Given the description of an element on the screen output the (x, y) to click on. 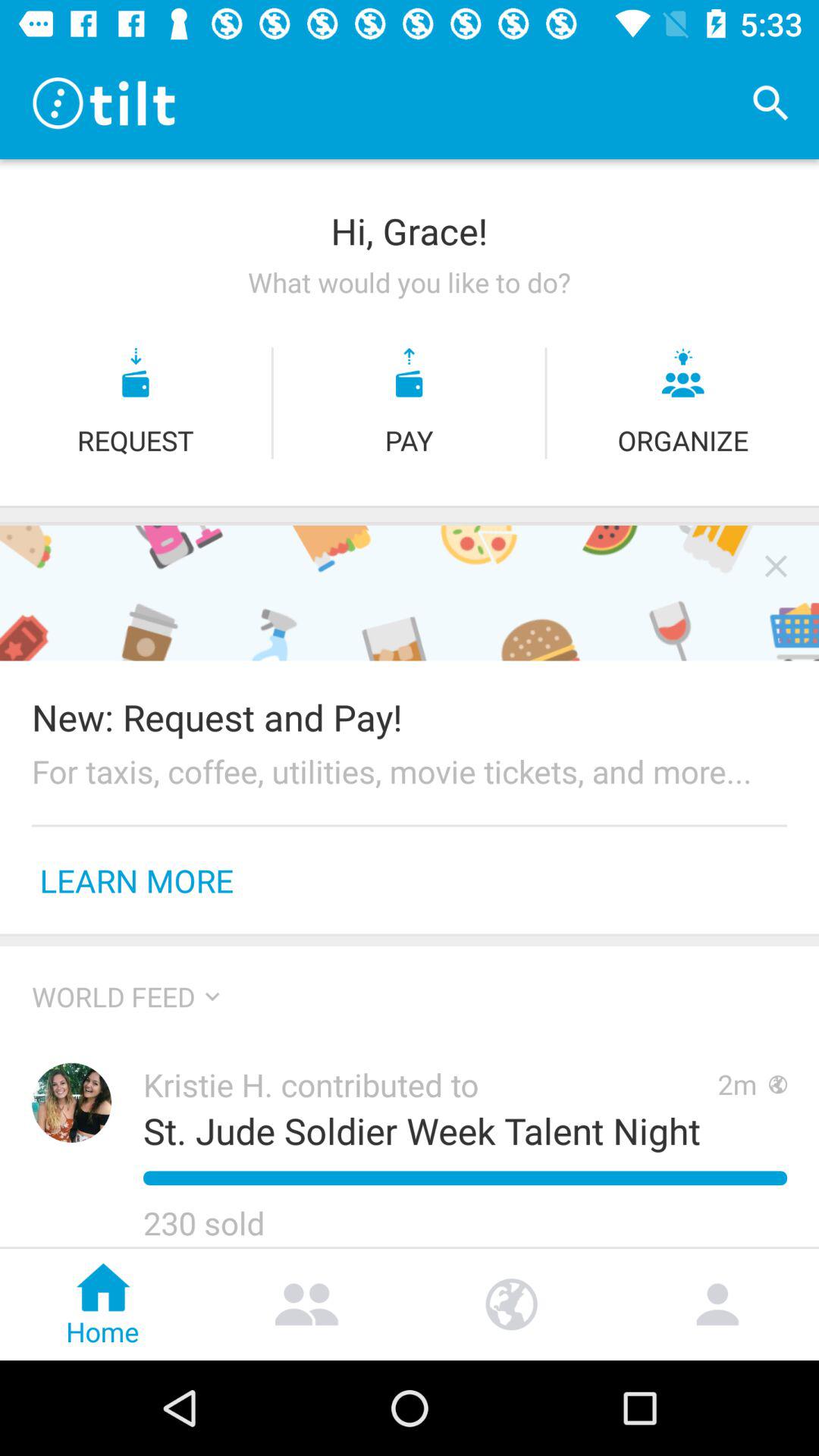
icons (776, 566)
